Given the description of an element on the screen output the (x, y) to click on. 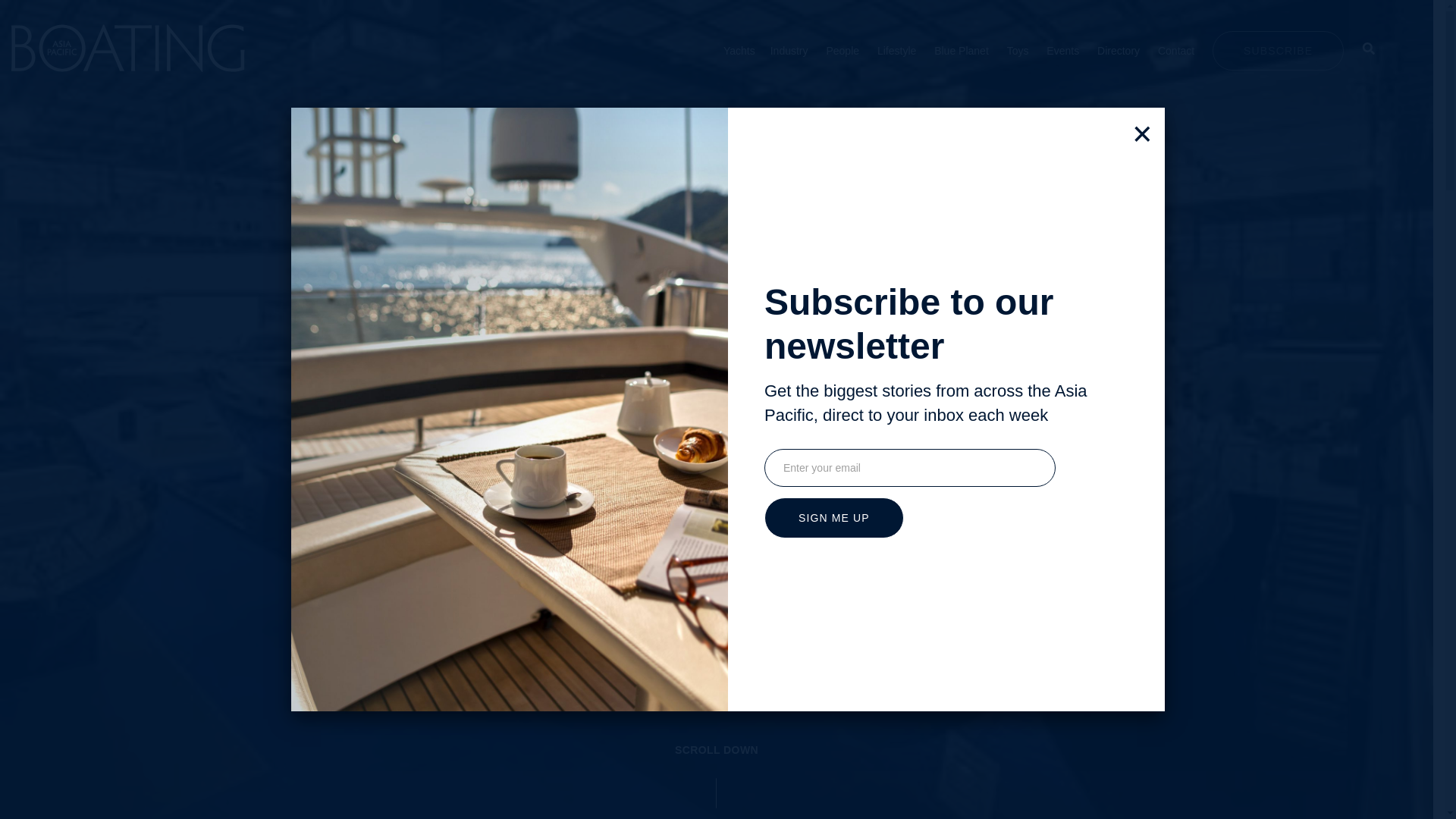
SUBSCRIBE (1277, 49)
SCROLL DOWN (716, 750)
Sign me up (834, 517)
Blue Planet (961, 50)
Events (1062, 50)
People (842, 50)
Contact (1175, 50)
Toys (1018, 50)
Directory (1118, 50)
SCROLL DOWN (716, 775)
Industry (789, 50)
